Given the description of an element on the screen output the (x, y) to click on. 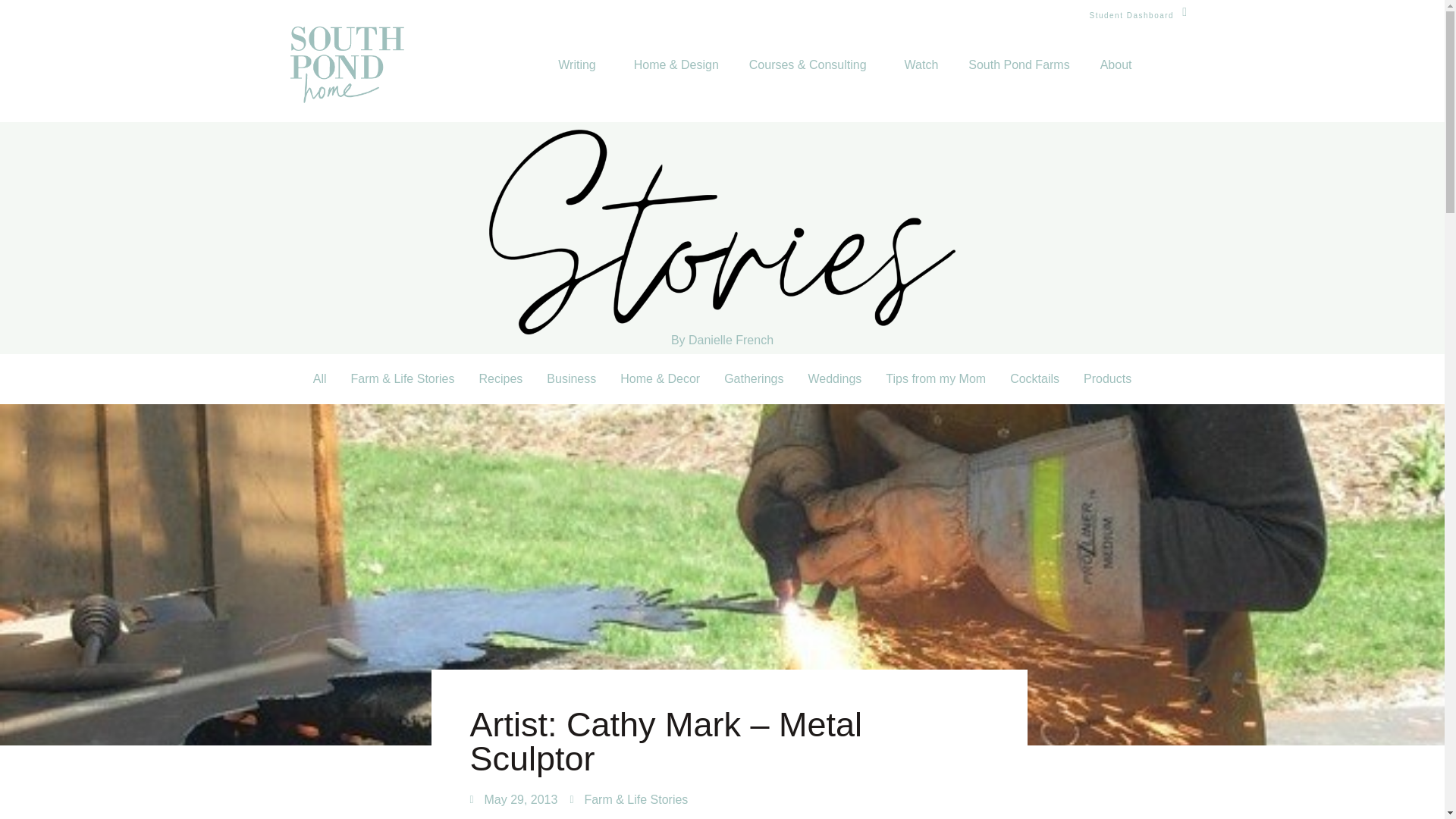
Business (571, 378)
Gatherings (752, 378)
Weddings (833, 378)
Cocktails (1034, 378)
Watch (921, 54)
South Pond Farms (1018, 56)
Recipes (501, 378)
Products (1106, 378)
Tips from my Mom (935, 378)
About (1119, 57)
